Given the description of an element on the screen output the (x, y) to click on. 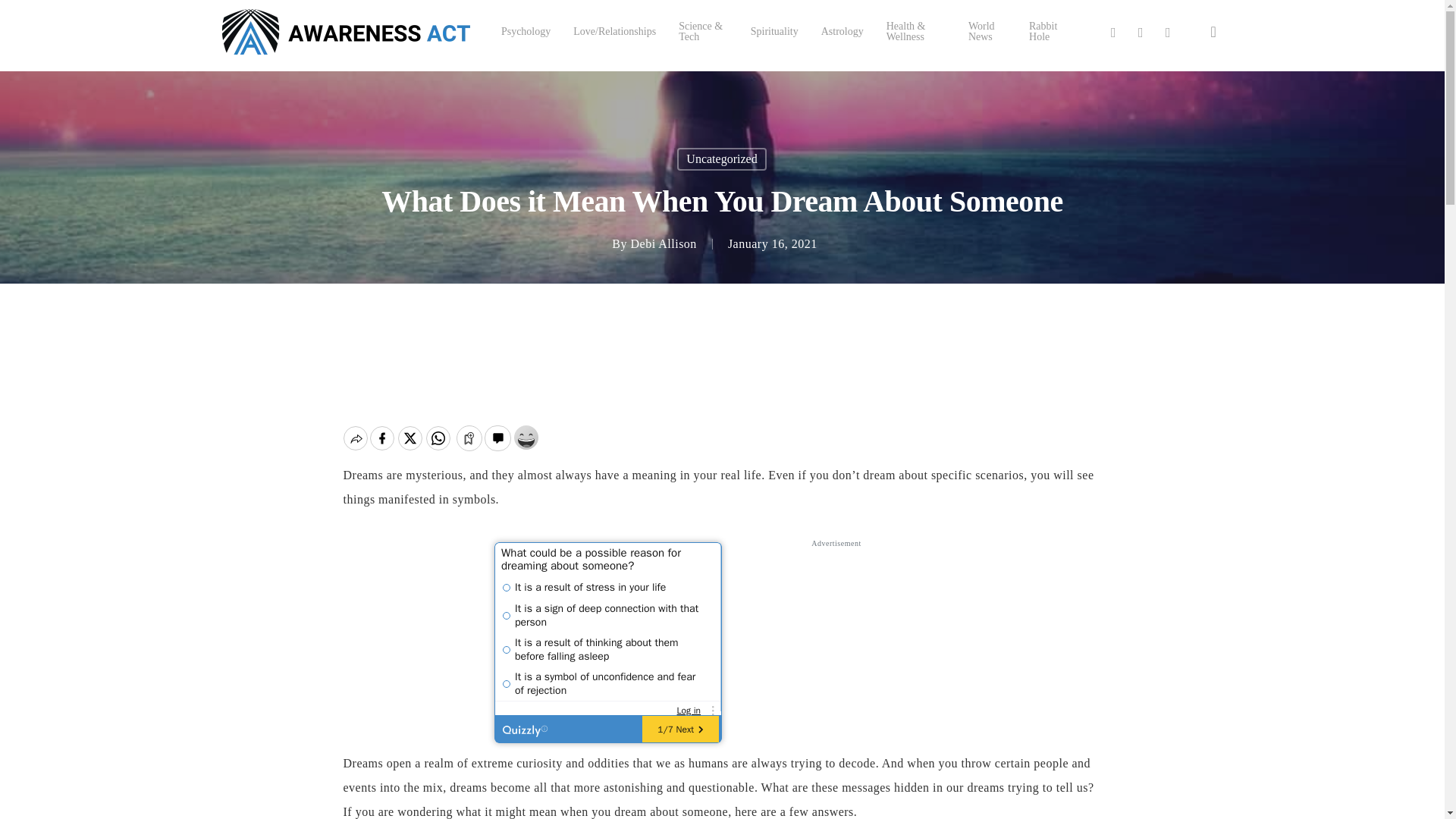
Twitter (1112, 31)
Psychology (525, 31)
Uncategorized (721, 159)
search (1213, 32)
World News (987, 31)
Astrology (842, 31)
Debi Allison (663, 243)
Posts by Debi Allison (663, 243)
Instagram (1167, 31)
Vuukle Sharebar Widget (721, 436)
Disclosure (873, 806)
Facebook (1140, 31)
Legal (751, 806)
3rd party ad content (836, 647)
Rabbit Hole (1047, 31)
